Given the description of an element on the screen output the (x, y) to click on. 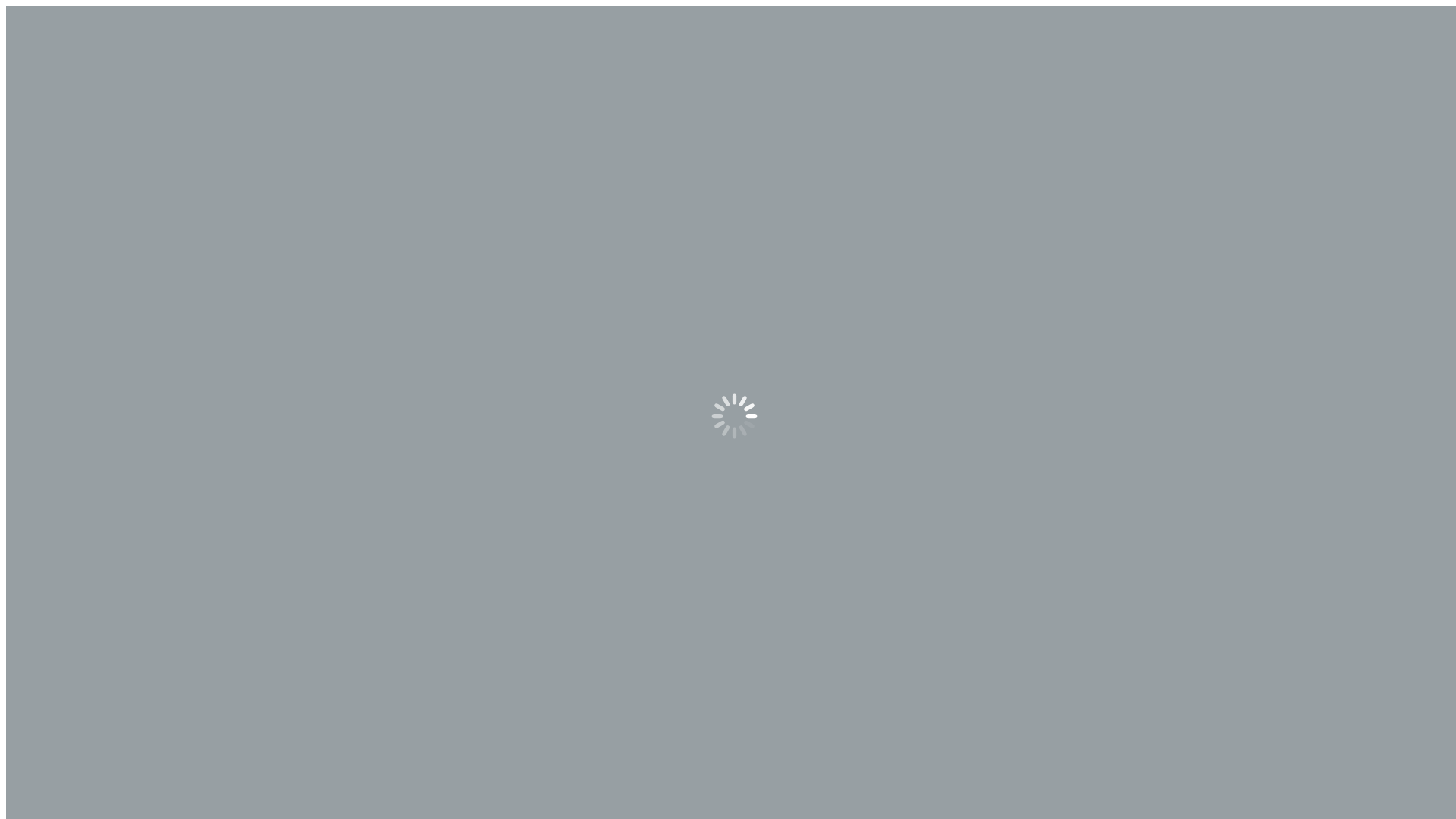
Next (arrow right) Element type: hover (27, 738)
Shop Dispensary Element type: text (77, 78)
Contact Element type: text (55, 184)
Zoom in/out Element type: hover (57, 724)
Share Element type: hover (27, 724)
Contact Element type: text (55, 106)
Home Element type: text (50, 285)
Go to Top Element type: text (30, 706)
Shop Dispensary Element type: text (77, 157)
Previous (arrow left) Element type: hover (12, 738)
About Element type: text (51, 171)
Toggle fullscreen Element type: hover (42, 724)
Go! Element type: text (816, 390)
About Element type: text (51, 92)
Close (Esc) Element type: hover (12, 724)
Skip to content Element type: text (42, 12)
